Given the description of an element on the screen output the (x, y) to click on. 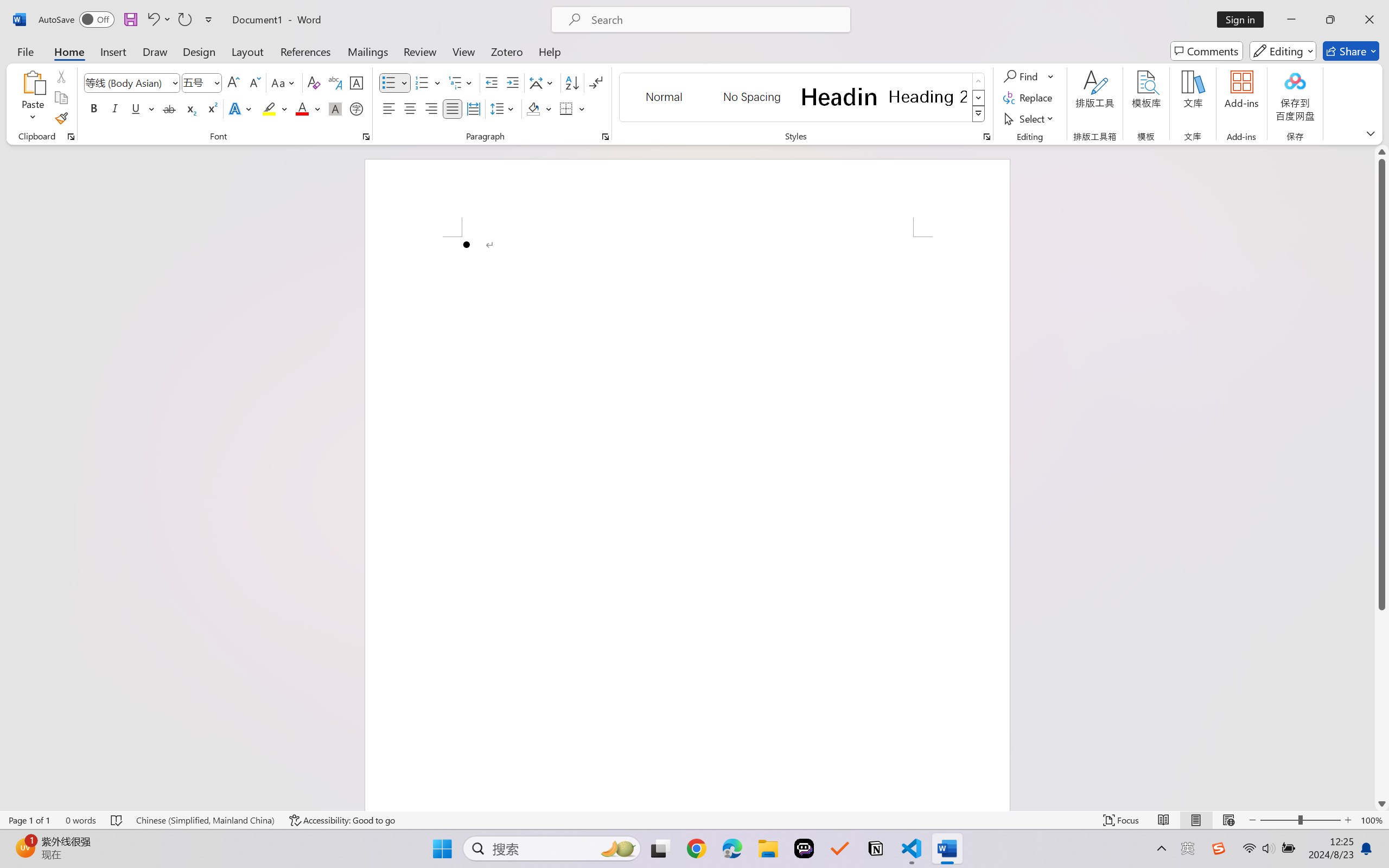
Page down (1382, 703)
AutomationID: QuickStylesGallery (802, 97)
